Given the description of an element on the screen output the (x, y) to click on. 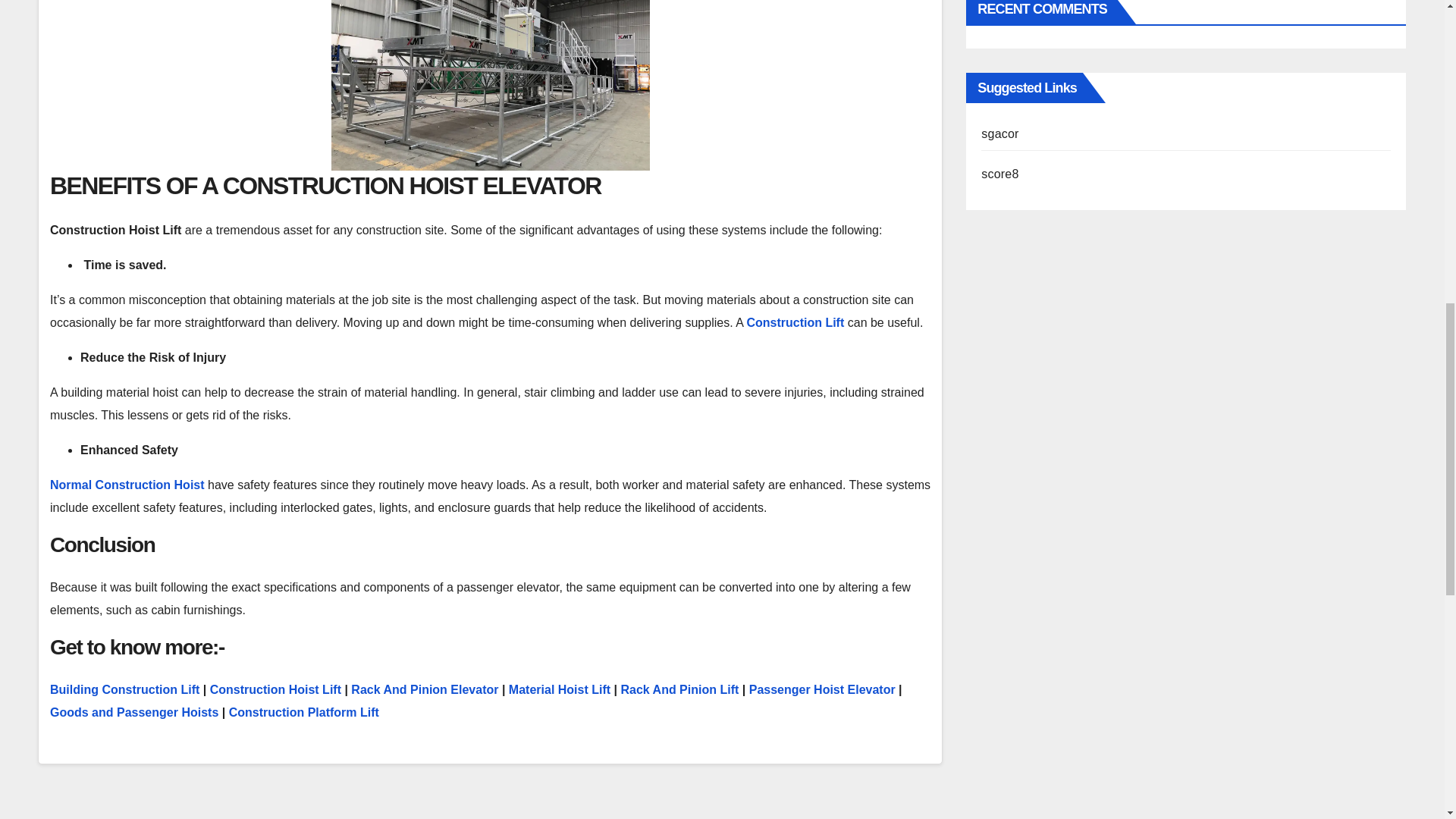
Rack And Pinion Elevator (423, 689)
Building Construction Lift (124, 689)
Rack And Pinion Lift (679, 689)
Passenger Hoist Elevator (822, 689)
Normal Construction Hoist (127, 484)
Construction Hoist Lift (274, 689)
Construction Platform Lift (303, 712)
Construction Lift (794, 322)
Goods and Passenger Hoists (133, 712)
Material Hoist Lift (559, 689)
